Given the description of an element on the screen output the (x, y) to click on. 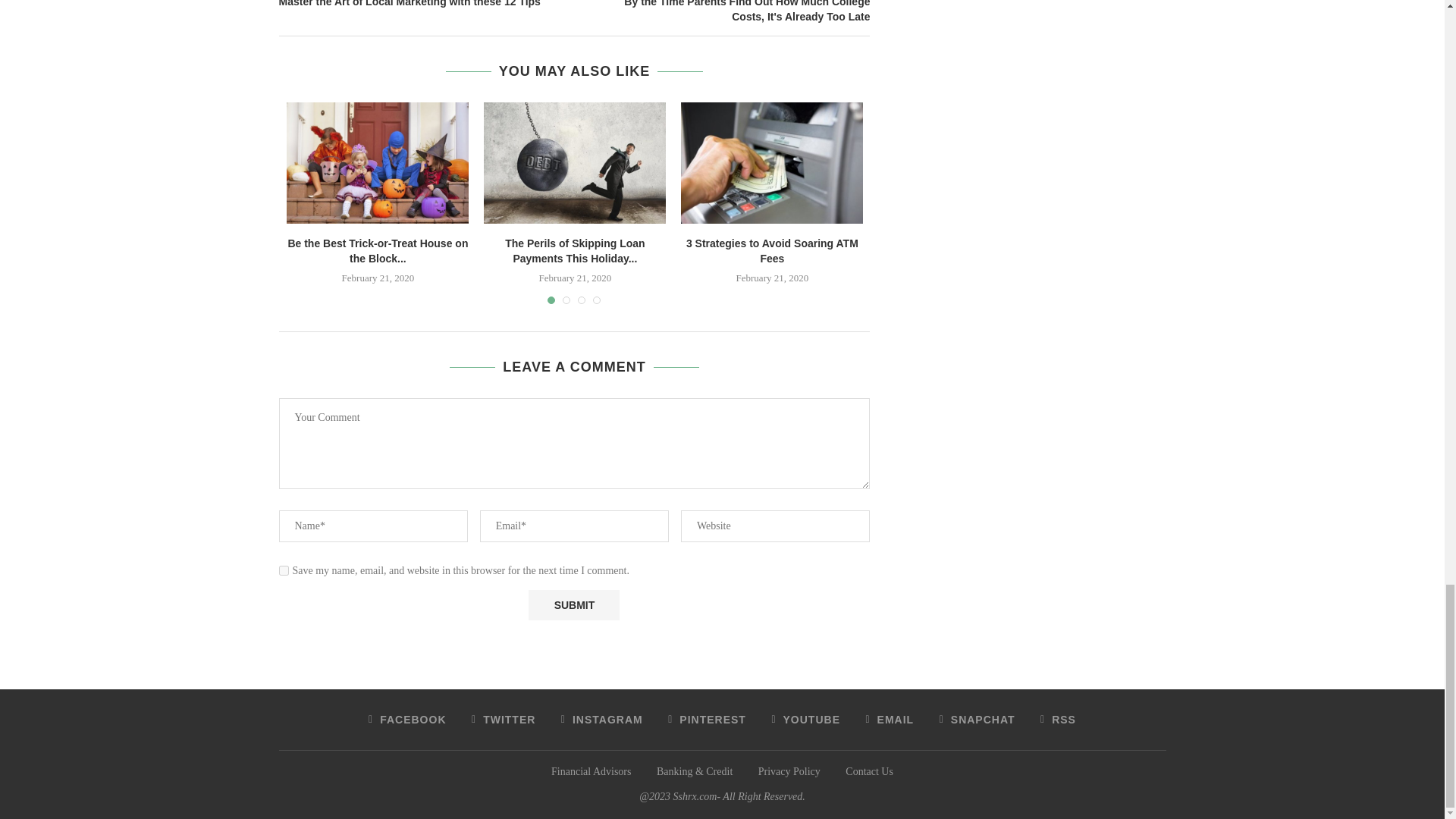
Master the Art of Local Marketing with these 12 Tips (427, 4)
The Perils of Skipping Loan Payments This Holiday Season (574, 162)
Submit (574, 604)
yes (283, 570)
3 Strategies to Avoid Soaring ATM Fees (772, 162)
